Given the description of an element on the screen output the (x, y) to click on. 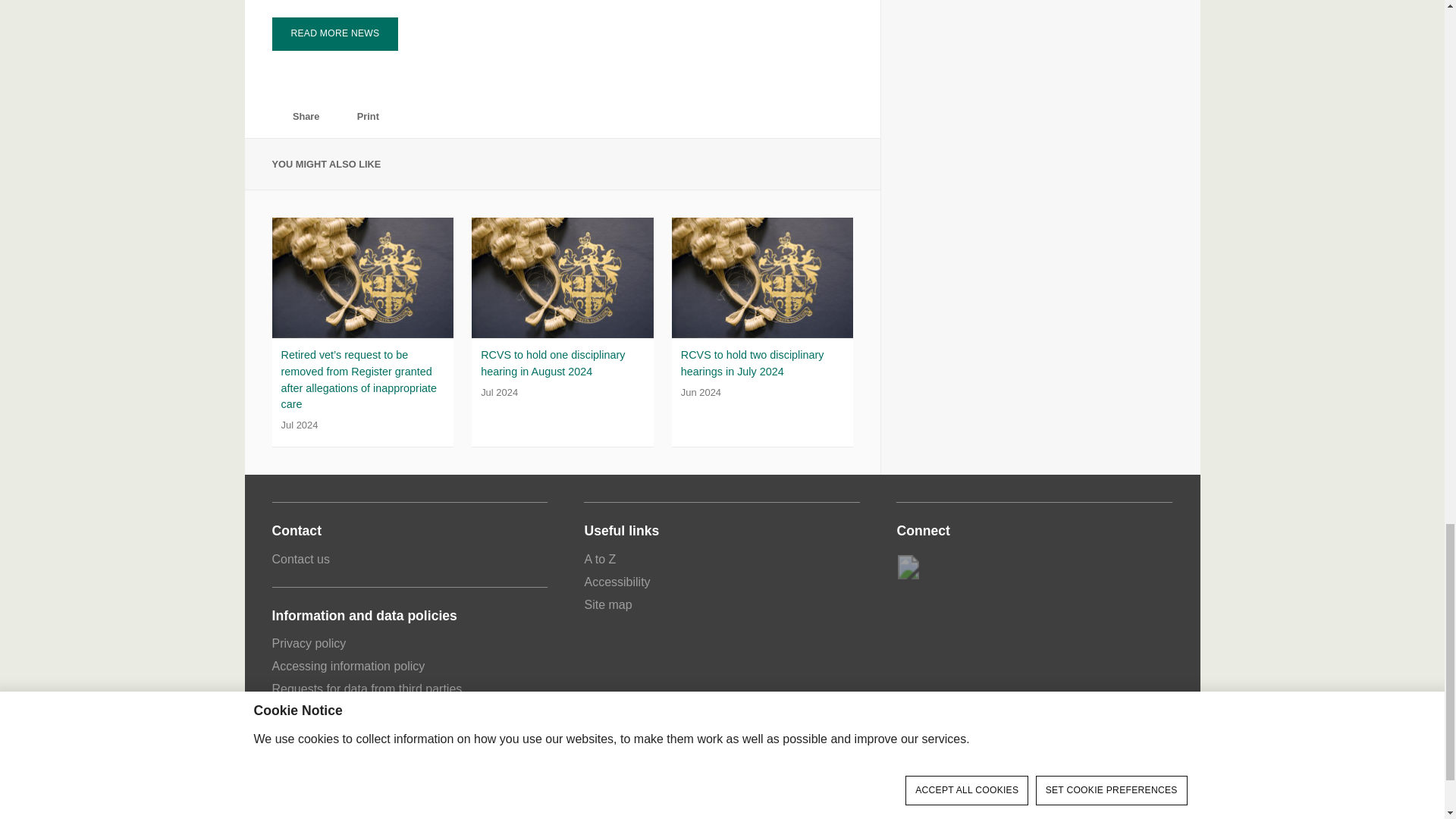
share (278, 117)
print (343, 117)
